Given the description of an element on the screen output the (x, y) to click on. 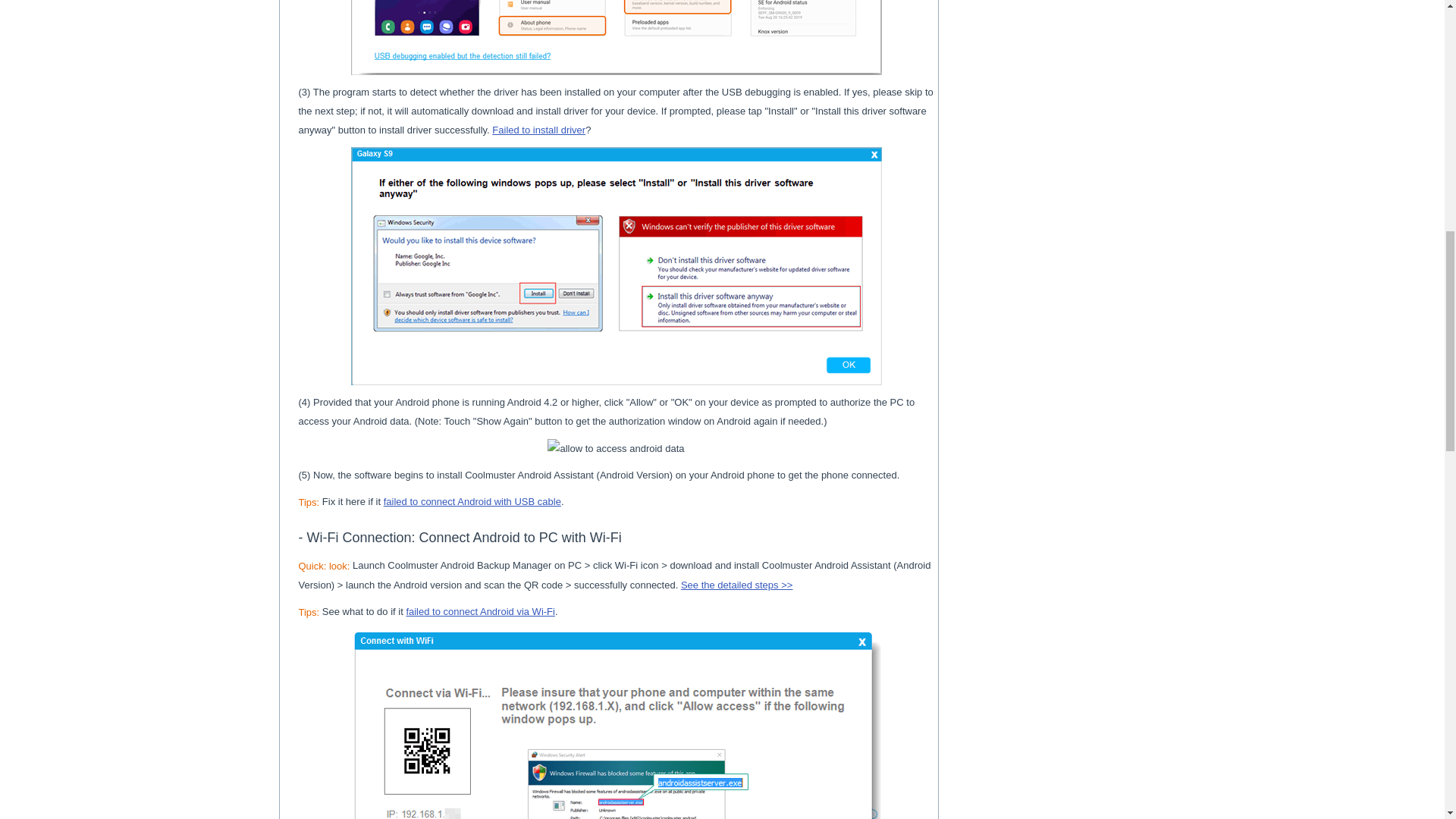
allow to access android data (615, 447)
install driver for android (615, 265)
connect android to computer with wifi (615, 724)
enable usb debugging on android (615, 37)
